Given the description of an element on the screen output the (x, y) to click on. 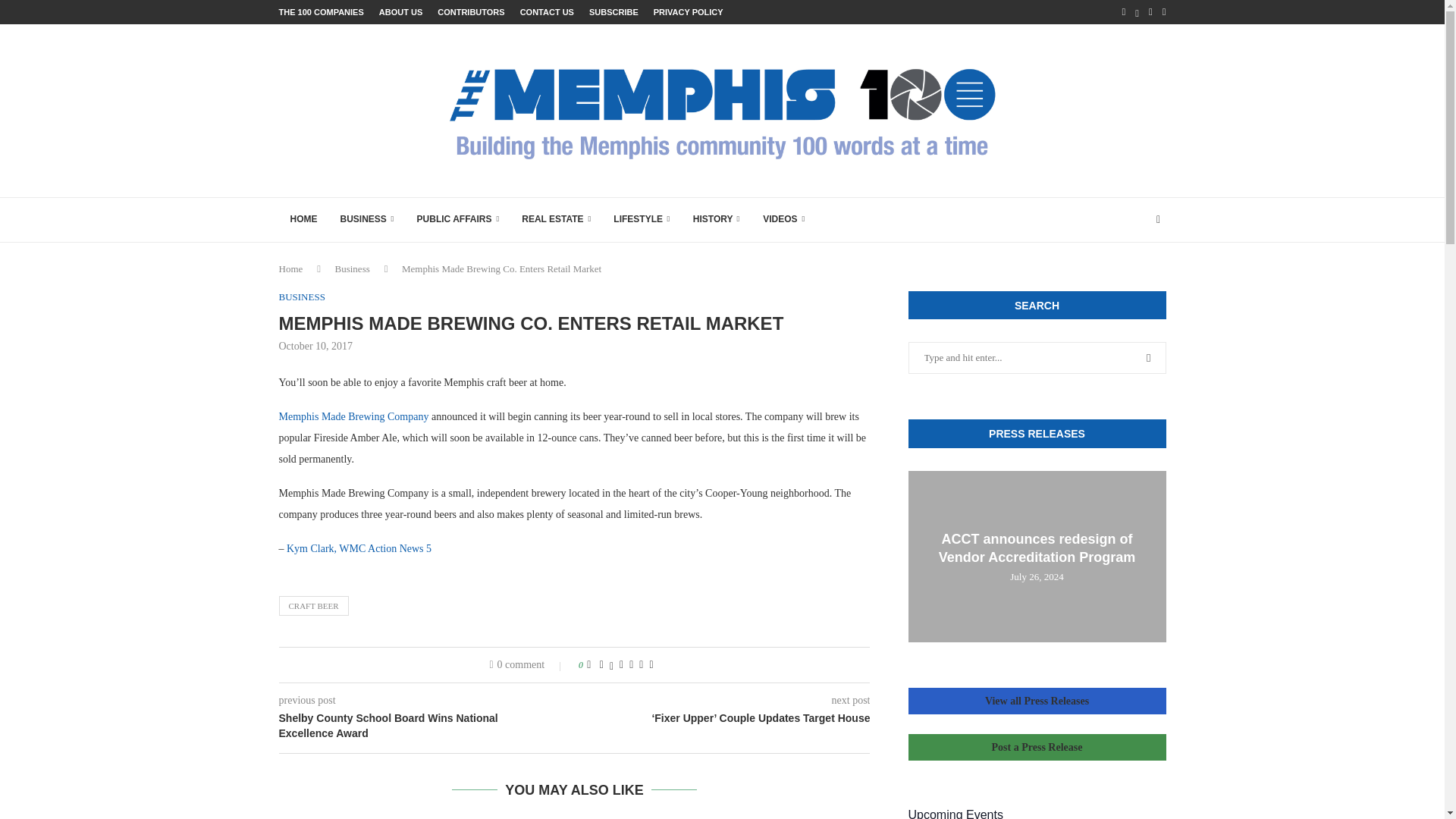
ABOUT US (400, 12)
BUSINESS (301, 297)
Business (351, 268)
Shelby County School Board Wins National Excellence Award (427, 726)
CRAFT BEER (314, 605)
THE 100 COMPANIES (321, 12)
PUBLIC AFFAIRS (458, 219)
LIFESTYLE (641, 219)
Home (290, 268)
Kym Clark, WMC Action News 5 (358, 548)
